Given the description of an element on the screen output the (x, y) to click on. 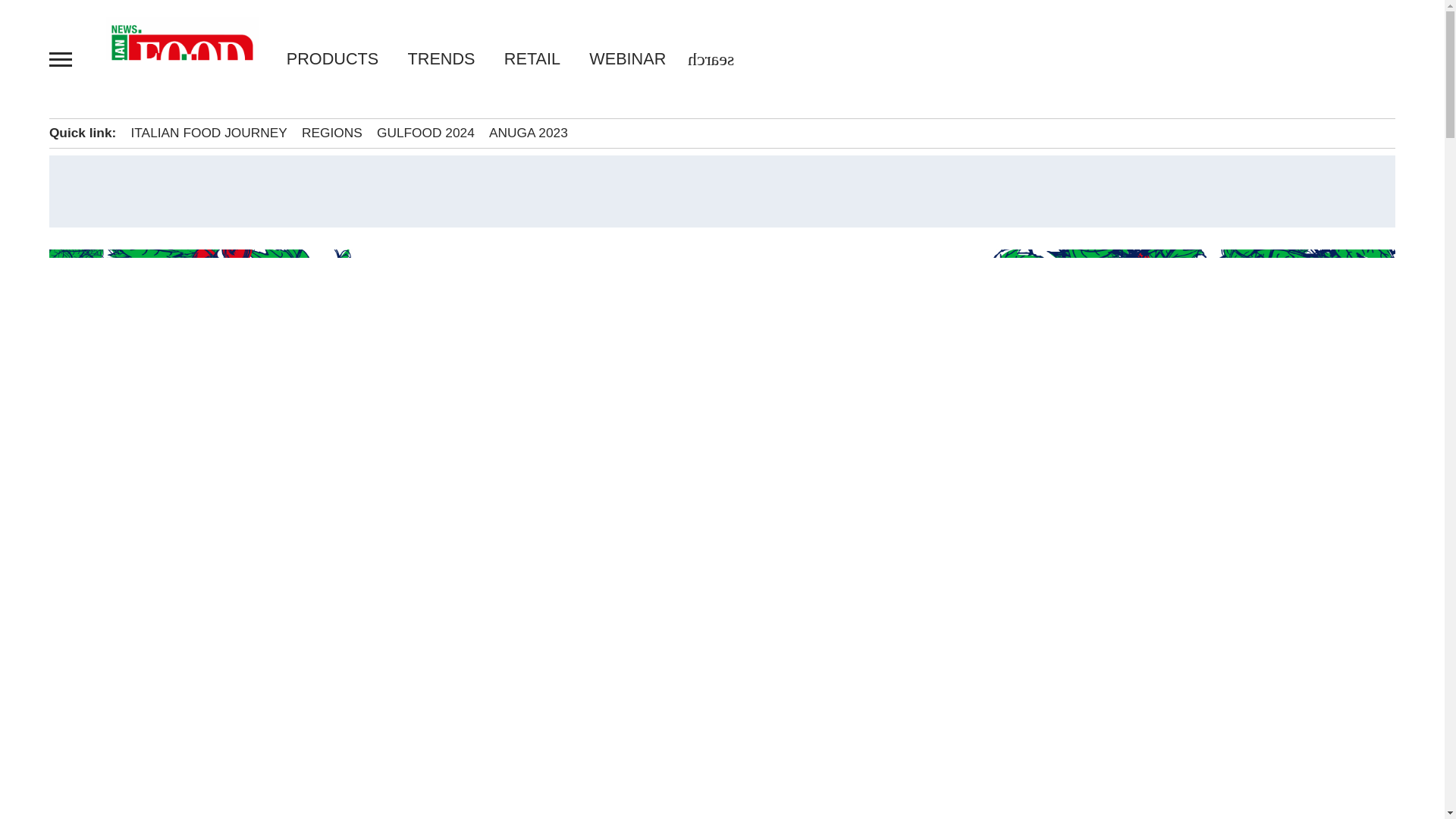
Search (42, 17)
PRODUCTS (339, 58)
TRENDS (441, 58)
WEBINAR (620, 58)
RETAIL (532, 58)
